Given the description of an element on the screen output the (x, y) to click on. 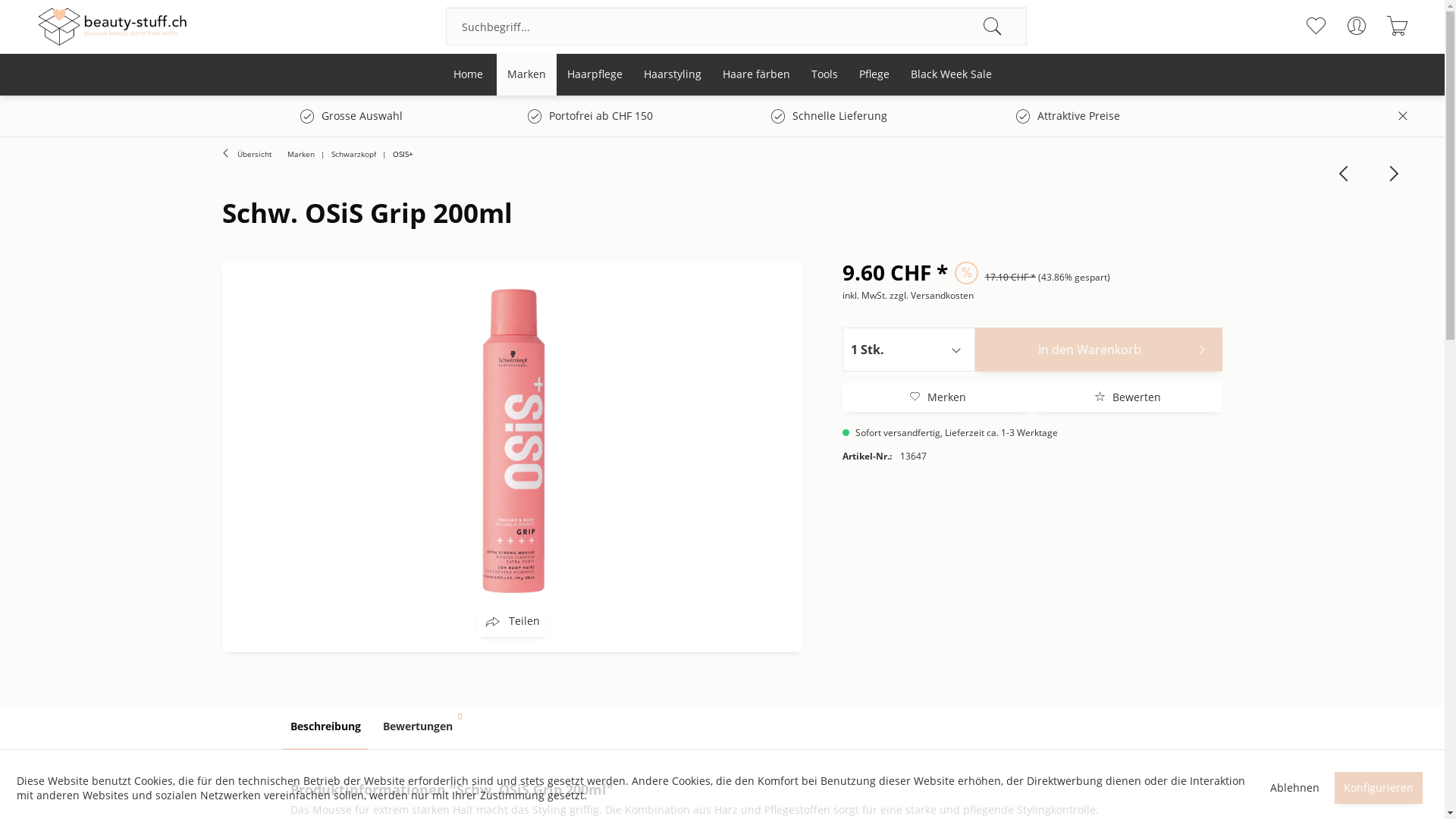
Beschreibung Element type: text (324, 727)
Black Week Sale Element type: text (950, 74)
OSIS+ Element type: text (402, 153)
Marken Element type: text (299, 153)
Tools Element type: text (824, 74)
Teilen Element type: text (512, 621)
Beauty Stuff - zur Startseite wechseln Element type: hover (111, 26)
Bewertungen
0 Element type: text (416, 727)
Schw. OSiS Sparkler 300ml Element type: hover (1389, 173)
In den Warenkorb Element type: text (1098, 349)
Schwarzkopf Element type: text (352, 153)
Merken Element type: text (937, 396)
Schw. OSiS Upload 200ml Element type: hover (1344, 173)
Marken Element type: text (525, 74)
Warenkorb Element type: hover (1397, 25)
Home Element type: text (467, 74)
Bewerten Element type: text (1127, 396)
Mein Konto Element type: hover (1356, 25)
Merkzettel Element type: hover (1315, 25)
Haarpflege Element type: text (594, 74)
Konfigurieren Element type: text (1378, 787)
Pflege Element type: text (873, 74)
Haarstyling Element type: text (671, 74)
zzgl. Versandkosten Element type: text (931, 294)
Ablehnen Element type: text (1294, 787)
